Given the description of an element on the screen output the (x, y) to click on. 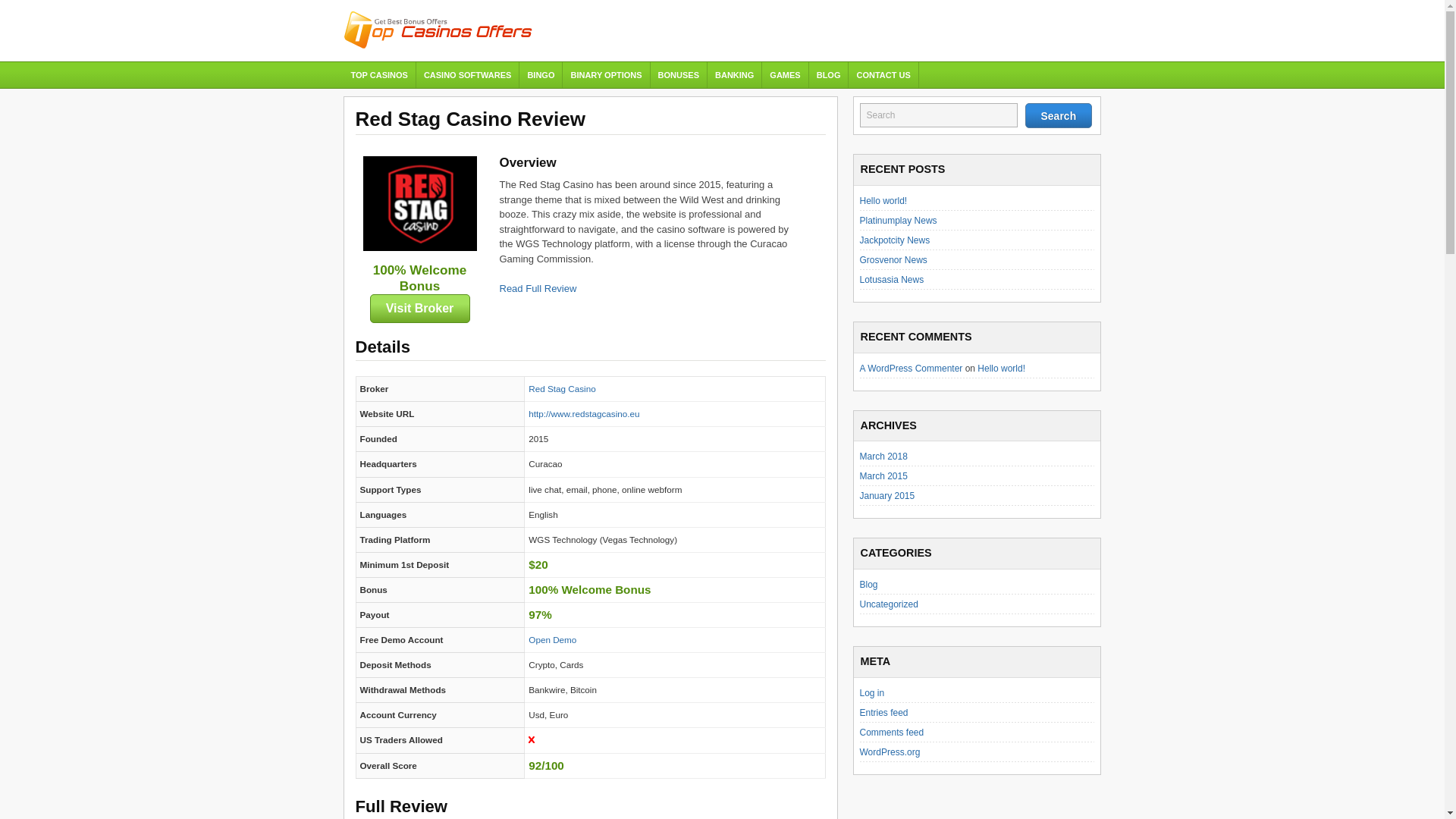
BINARY OPTIONS (605, 74)
CONTACT US (883, 74)
Search (1059, 115)
BONUSES (678, 74)
Search (938, 115)
Open Demo (552, 639)
Visit Broker (419, 308)
BANKING (734, 74)
GAMES (784, 74)
BINGO (540, 74)
